Given the description of an element on the screen output the (x, y) to click on. 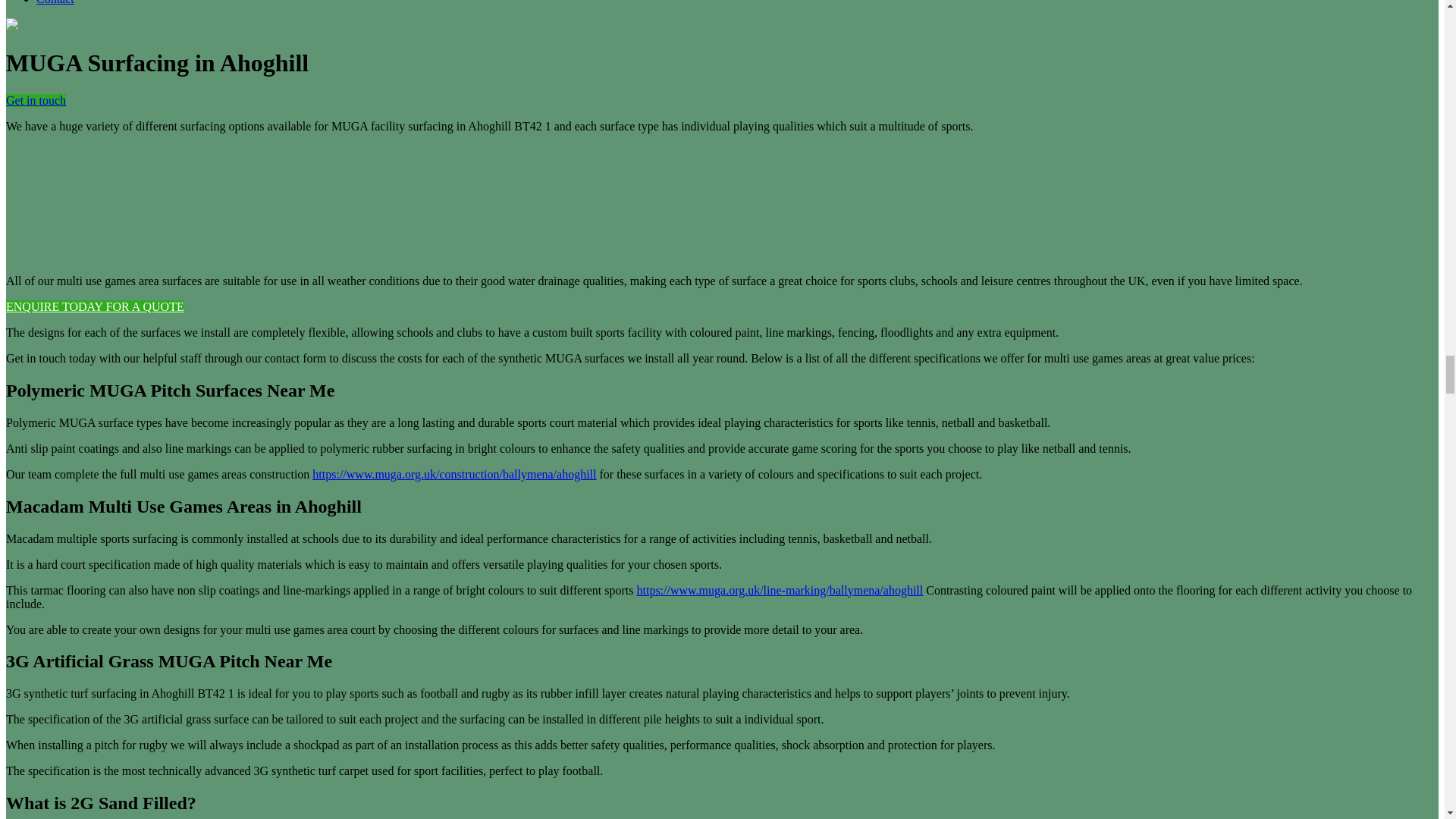
ENQUIRE TODAY FOR A QUOTE (94, 306)
Contact (55, 2)
Get in touch (35, 100)
